Given the description of an element on the screen output the (x, y) to click on. 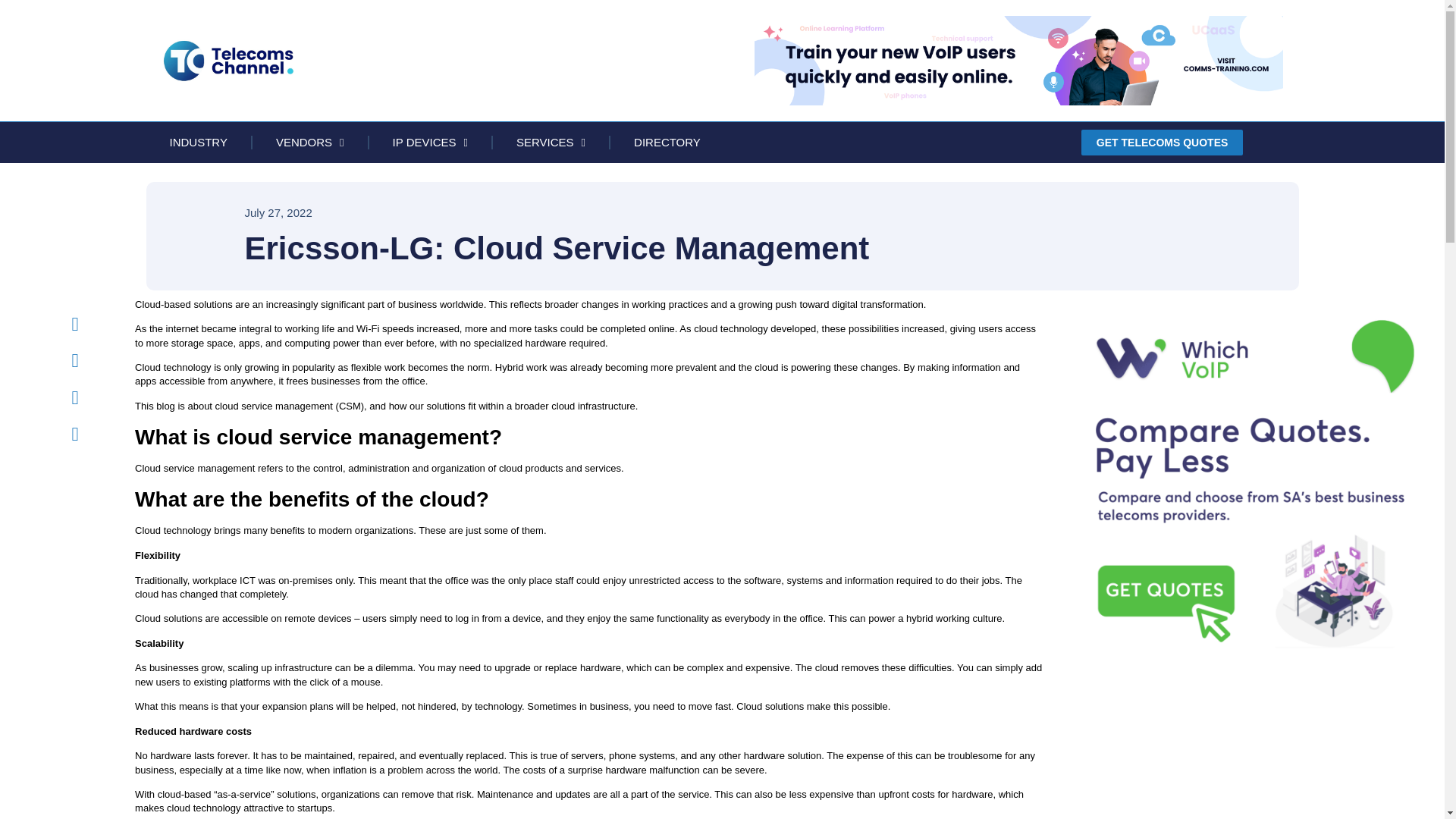
SERVICES (550, 142)
IP DEVICES (430, 142)
DIRECTORY (666, 142)
INDUSTRY (197, 142)
VENDORS (309, 142)
